Given the description of an element on the screen output the (x, y) to click on. 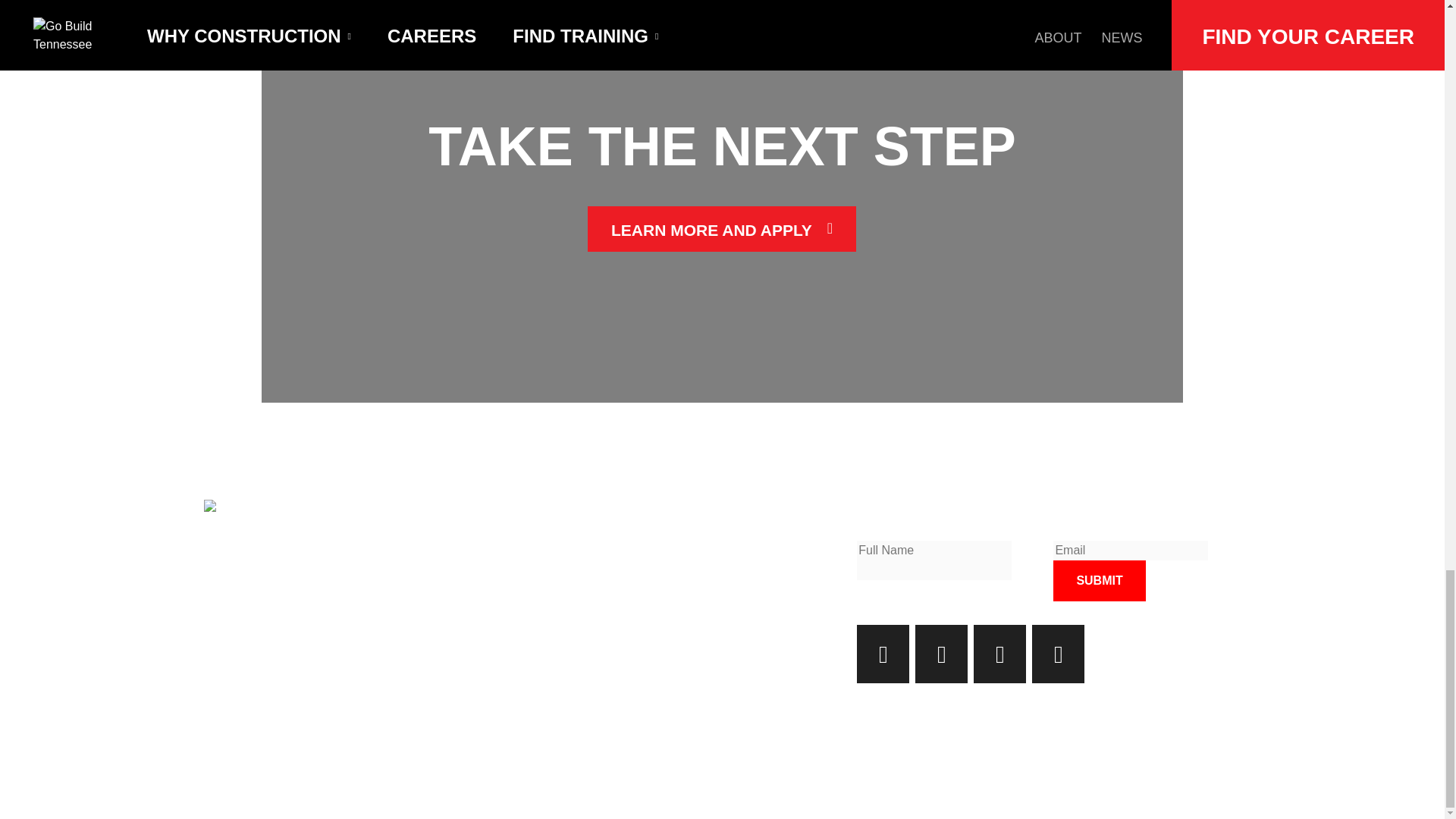
ABOUT (637, 594)
CAREER PATHWAYS TOOL (701, 536)
PARENTS (391, 580)
CAREERS (397, 638)
Submit (1098, 580)
LEARN MORE AND APPLY (722, 228)
Submit (1098, 580)
STUDENTS (395, 536)
Twitter (1000, 653)
STAKEHOLDERS (413, 602)
WHY CONSTRUCTION (459, 507)
Facebook (941, 653)
Instagram (882, 653)
YouTube (1058, 653)
NEWS (633, 624)
